Given the description of an element on the screen output the (x, y) to click on. 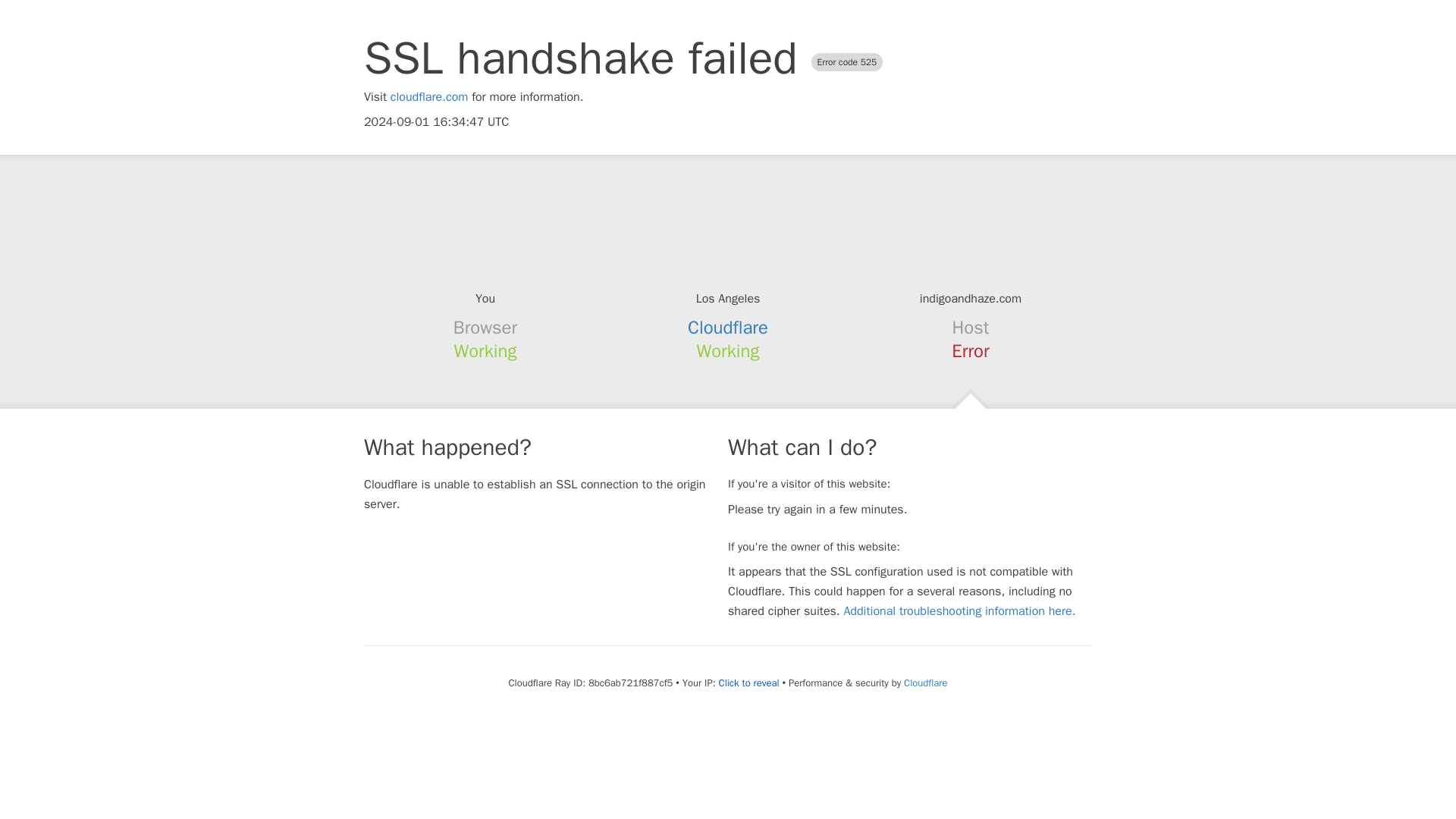
Cloudflare (727, 327)
Cloudflare (925, 682)
Click to reveal (748, 683)
Additional troubleshooting information here. (959, 611)
cloudflare.com (429, 96)
